Given the description of an element on the screen output the (x, y) to click on. 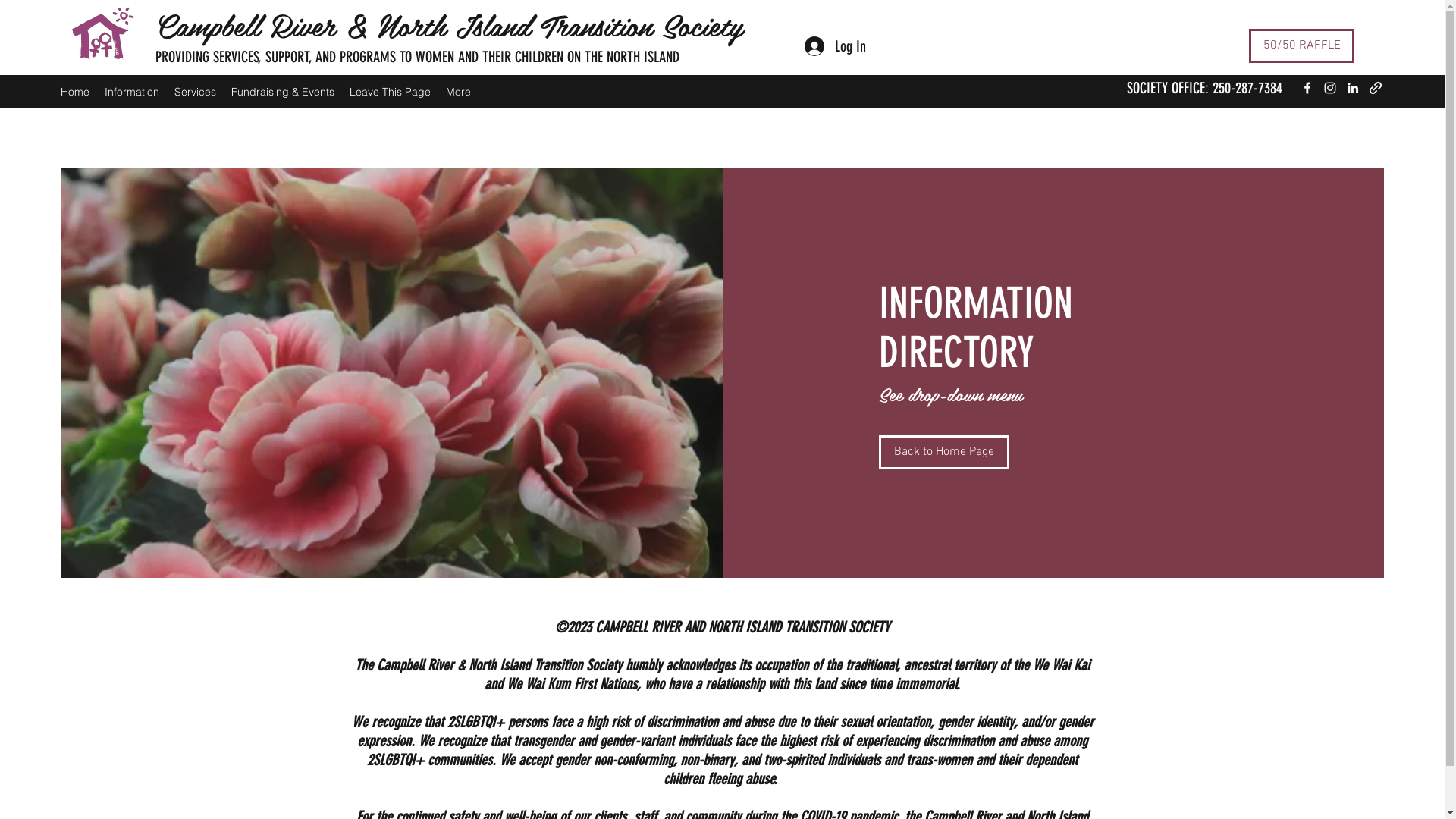
50/50 RAFFLE Element type: text (1301, 45)
Services Element type: text (194, 91)
Back to Home Page Element type: text (943, 452)
Information Element type: text (131, 91)
Fundraising & Events Element type: text (282, 91)
Log In Element type: text (834, 45)
Leave This Page Element type: text (390, 91)
Home Element type: text (75, 91)
